Given the description of an element on the screen output the (x, y) to click on. 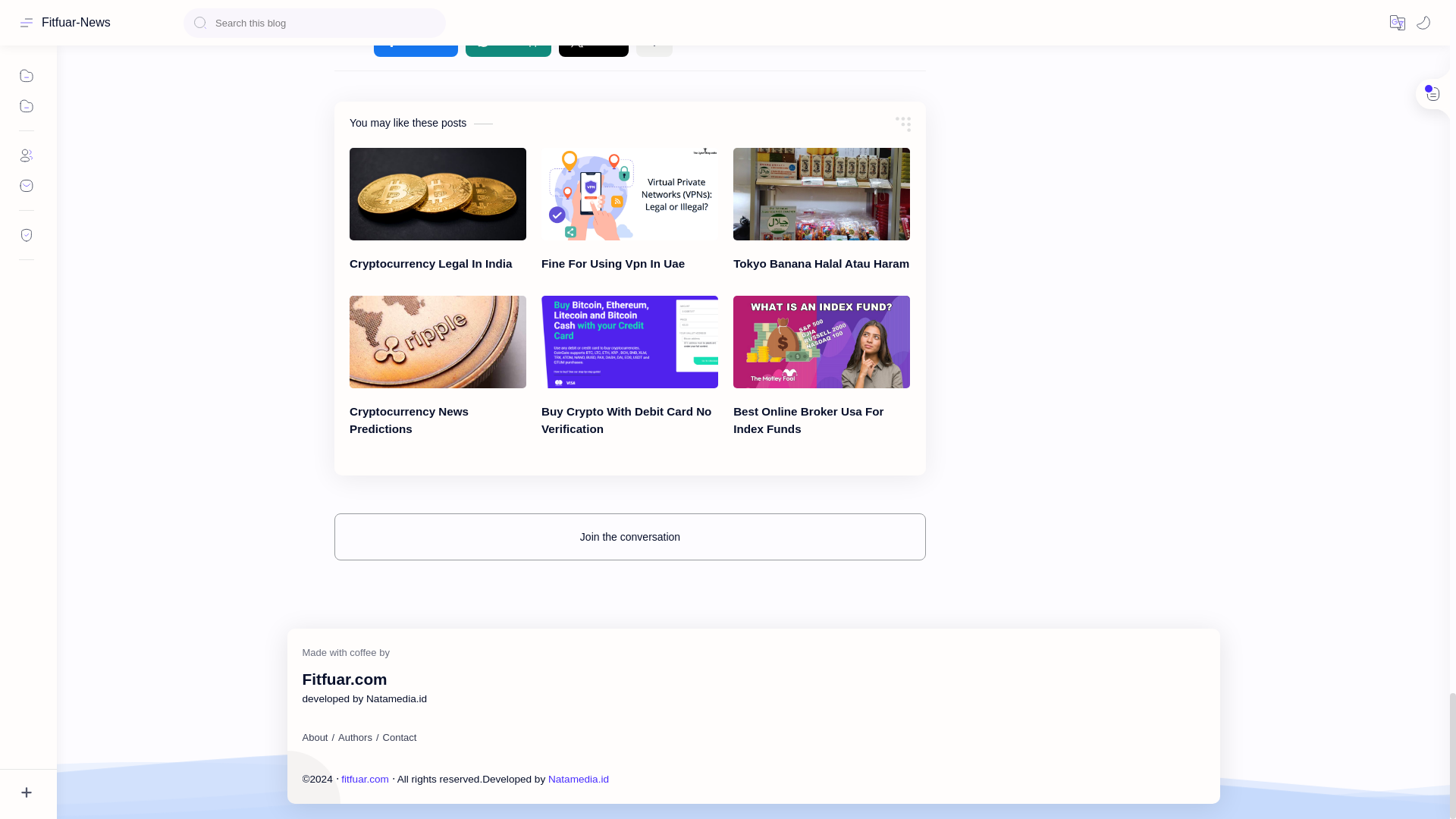
Cryptocurrency Legal In India (437, 194)
Fine For Using Vpn In Uae (629, 194)
Best Online Broker Usa For Index Funds (821, 341)
Tokyo Banana Halal Atau Haram (821, 194)
Buy Crypto With Debit Card No Verification (629, 341)
Cryptocurrency News Predictions (437, 341)
